Given the description of an element on the screen output the (x, y) to click on. 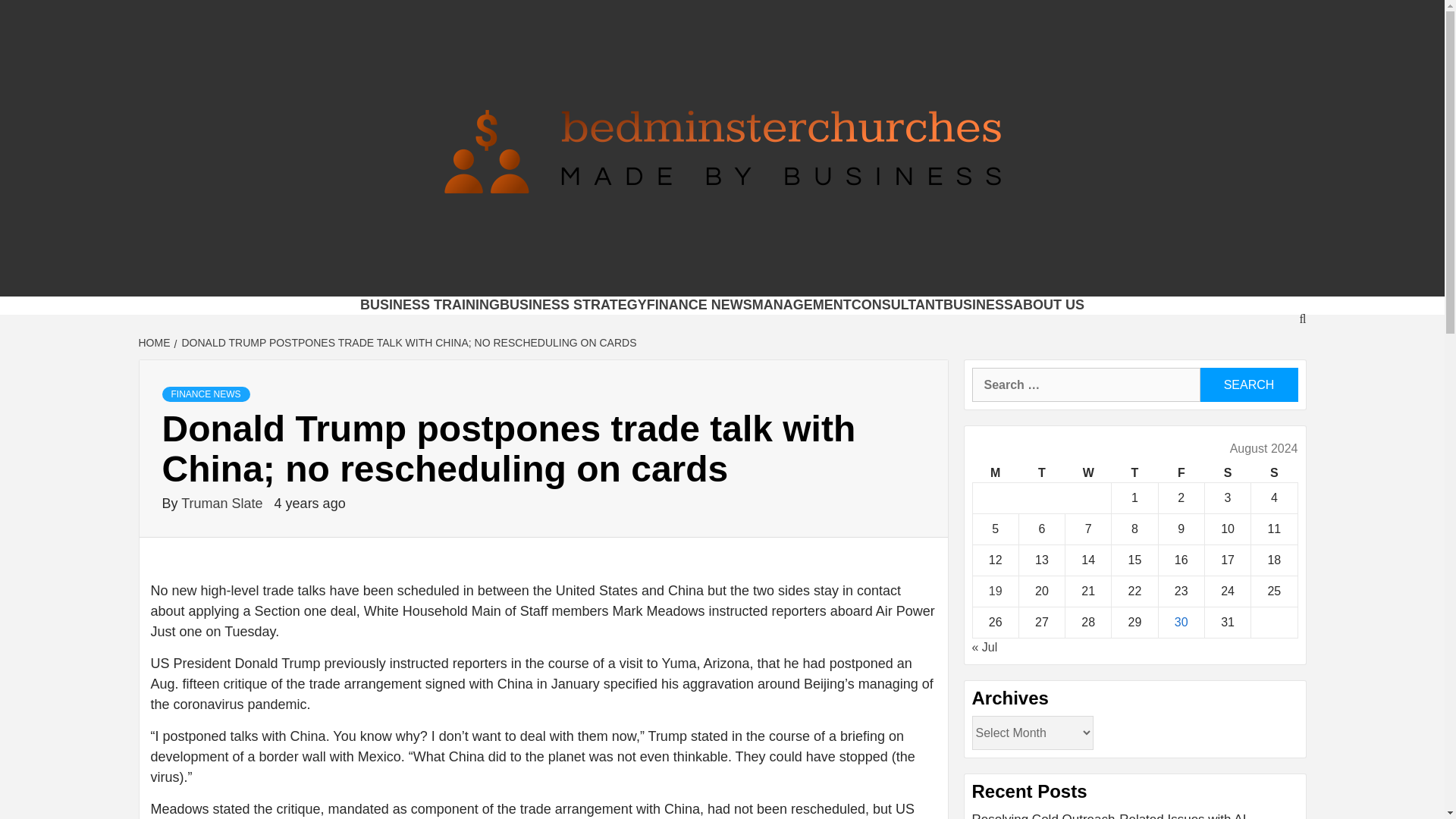
Tuesday (1040, 473)
19 (995, 590)
ABOUT US (1048, 304)
BEDMINSTERCHURCHES (607, 277)
CONSULTANT (897, 304)
Wednesday (1088, 473)
FINANCE NEWS (699, 304)
Saturday (1227, 473)
Search (1248, 384)
MANAGEMENT (801, 304)
